Given the description of an element on the screen output the (x, y) to click on. 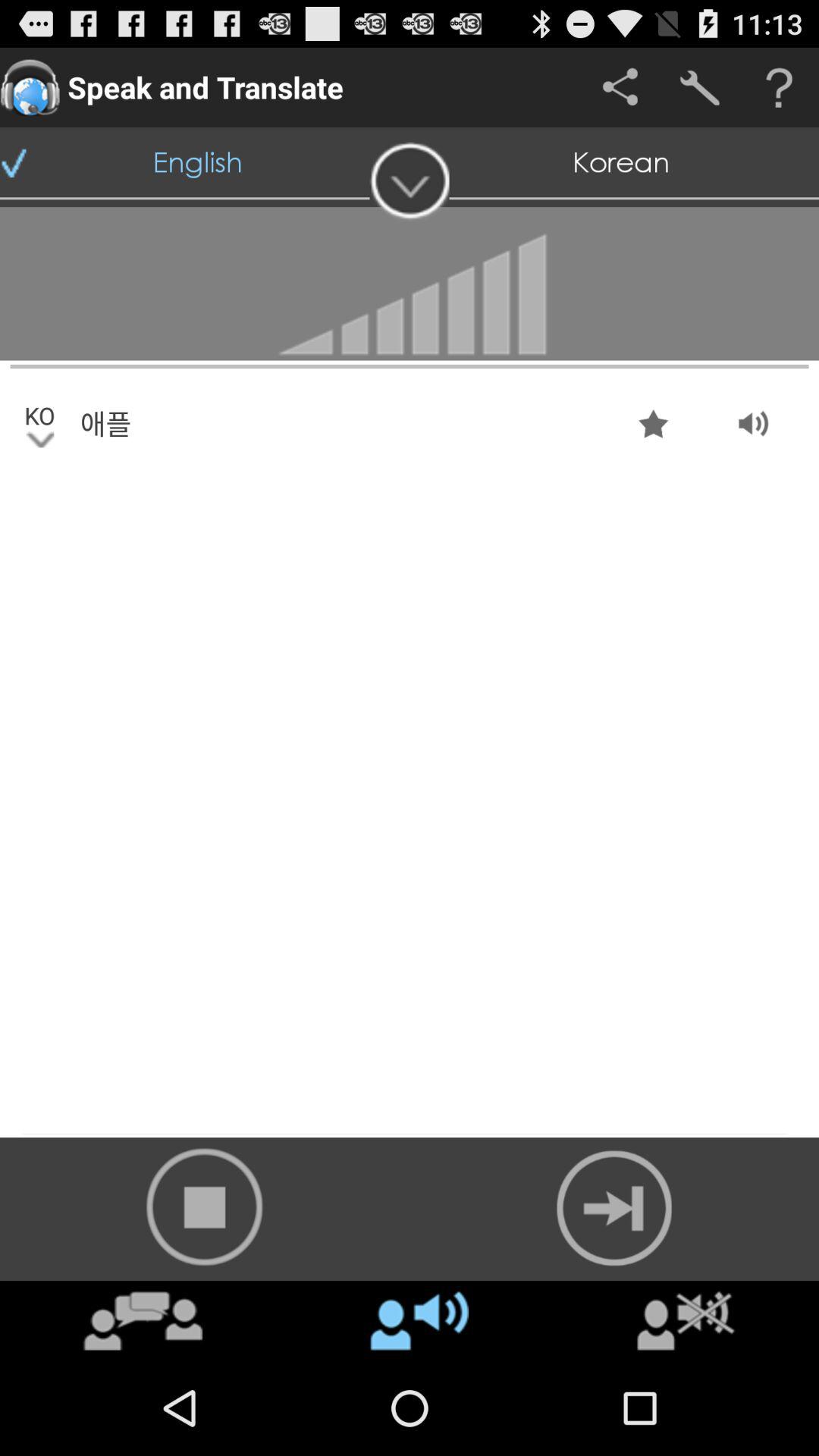
click for help (779, 87)
